Given the description of an element on the screen output the (x, y) to click on. 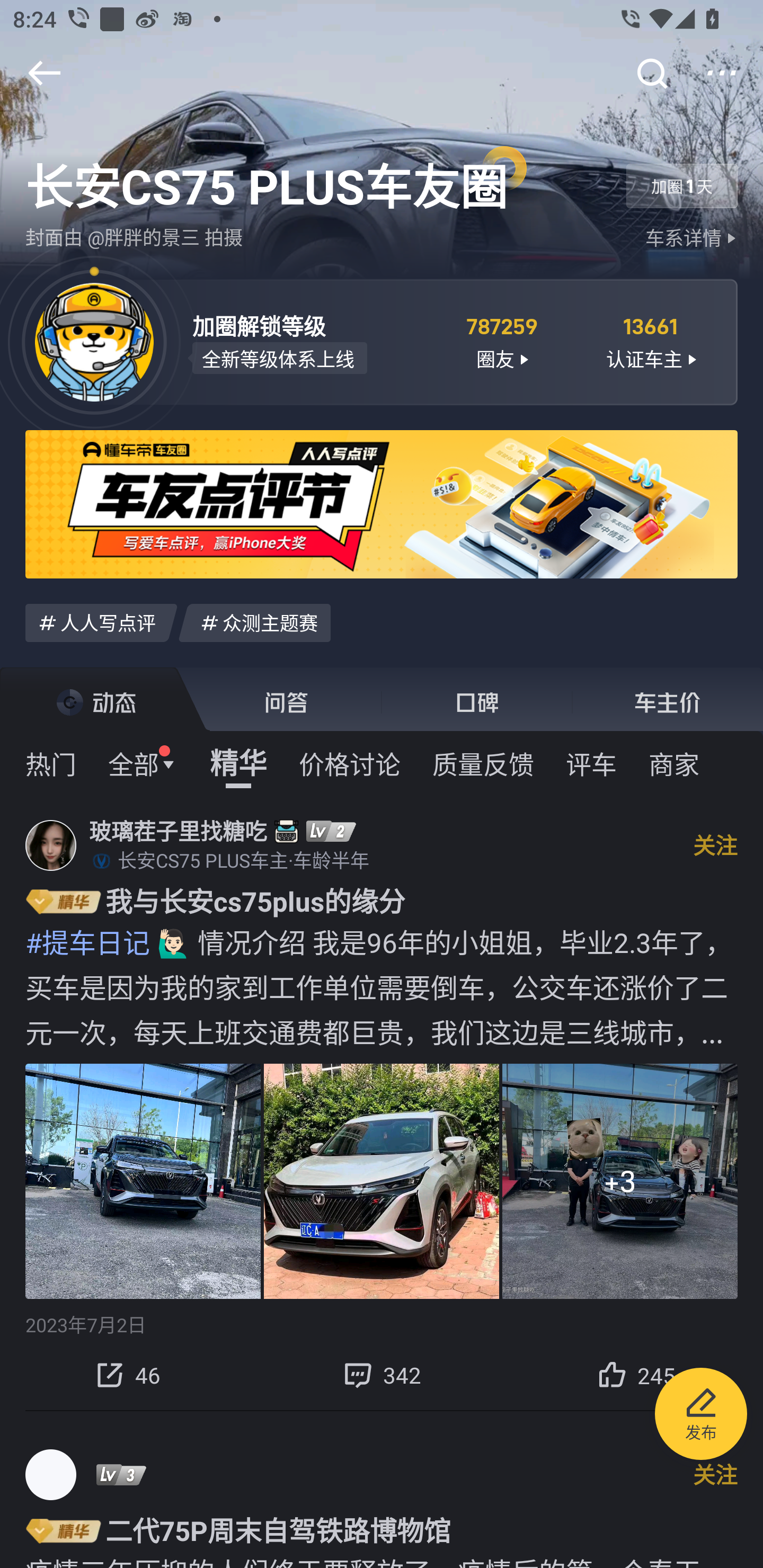
 (44, 72)
 (651, 72)
 (721, 72)
车系详情 (692, 238)
加圈解锁等级 全新等级体系上线 (307, 341)
787259 圈友 (501, 341)
13661 认证车主 (650, 341)
 人人写点评 (101, 622)
 众测主题赛 (253, 622)
热门 (50, 762)
全部  (142, 762)
精华 (238, 762)
价格讨论 (349, 762)
质量反馈 (483, 762)
评车 (591, 762)
商家 (673, 762)
玻璃茬子里找糖吃 (178, 830)
关注 (714, 844)
+3 (619, 1180)
 46 (127, 1374)
 342 (381, 1374)
245 (635, 1374)
 发布 (701, 1416)
关注 (714, 1474)
